Given the description of an element on the screen output the (x, y) to click on. 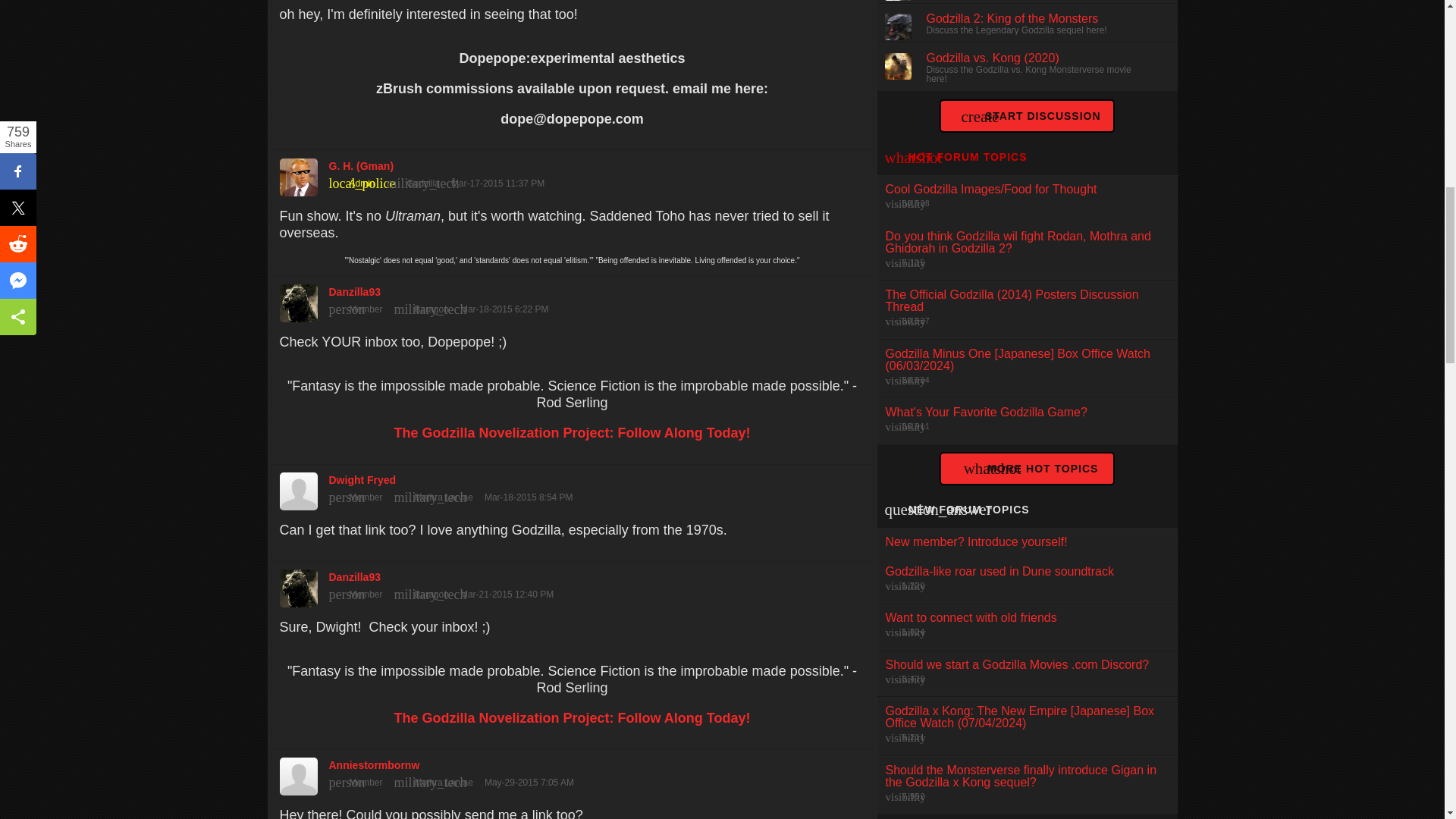
The Godzilla Novelization Project: Follow Along Today! (571, 717)
Dwight Fryed (571, 487)
The Godzilla Novelization Project: Follow Along Today! (571, 432)
Danzilla93 (571, 584)
Anniestormbornw (571, 772)
Danzilla93 (571, 299)
